Given the description of an element on the screen output the (x, y) to click on. 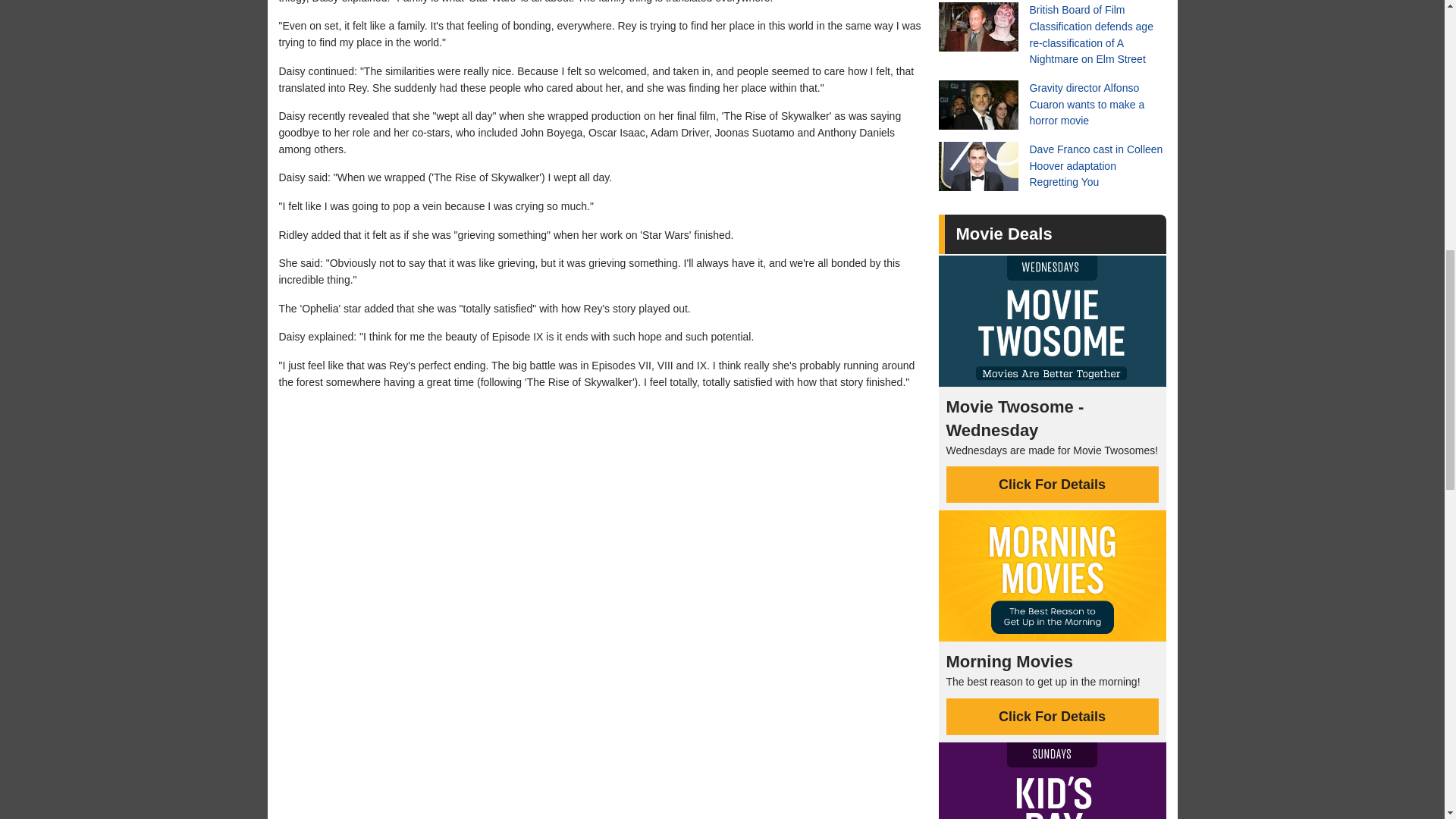
Click For Details (1052, 716)
Movie Deals (1003, 233)
Dave Franco cast in Colleen Hoover adaptation Regretting You (1052, 165)
Gravity director Alfonso Cuaron wants to make a horror movie (1052, 104)
Click For Details (1052, 484)
